Given the description of an element on the screen output the (x, y) to click on. 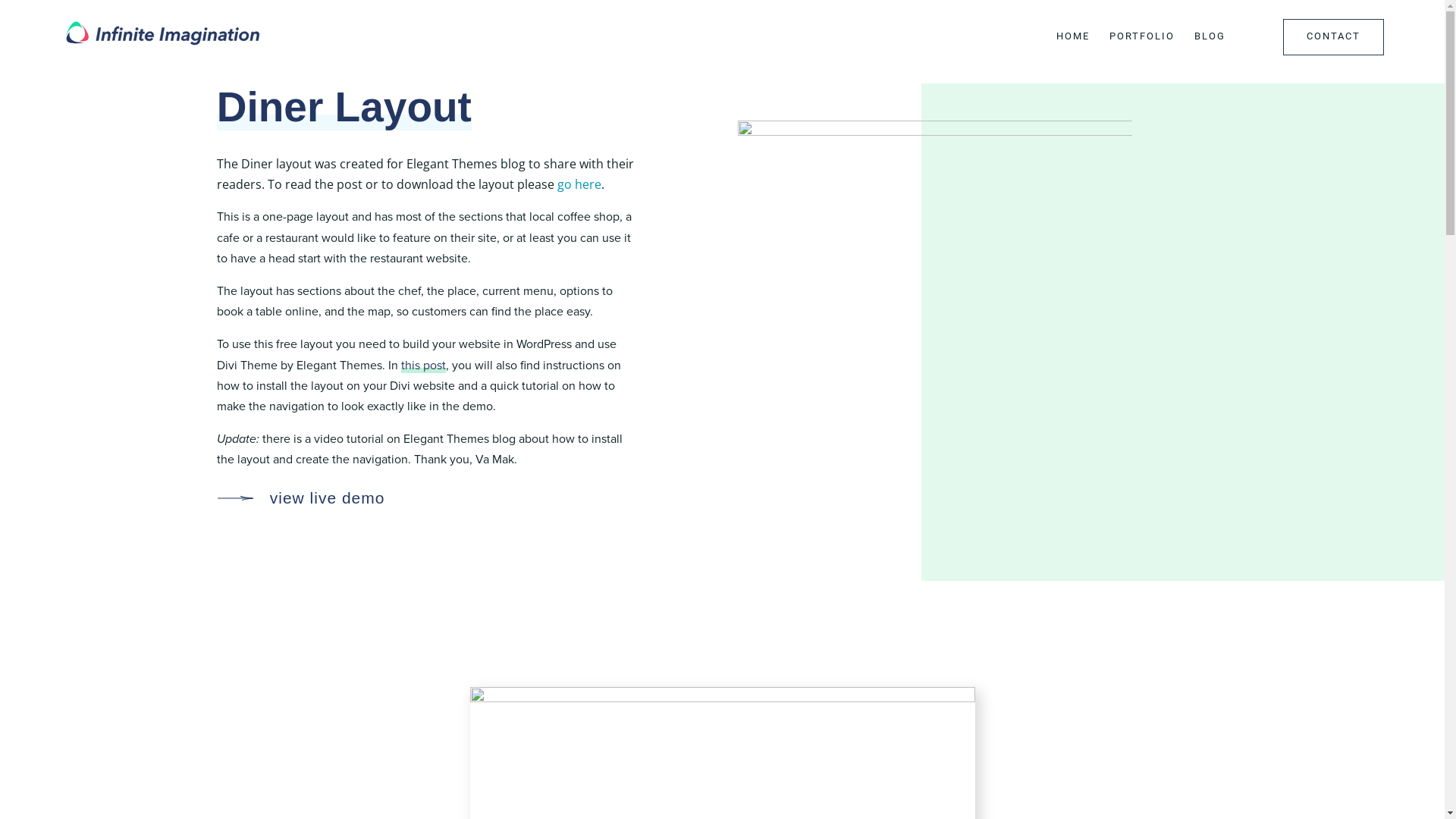
PORTFOLIO Element type: text (1141, 40)
CONTACT Element type: text (1333, 40)
this post Element type: text (423, 365)
HOME Element type: text (1072, 40)
go here Element type: text (579, 183)
BLOG Element type: text (1209, 40)
